Given the description of an element on the screen output the (x, y) to click on. 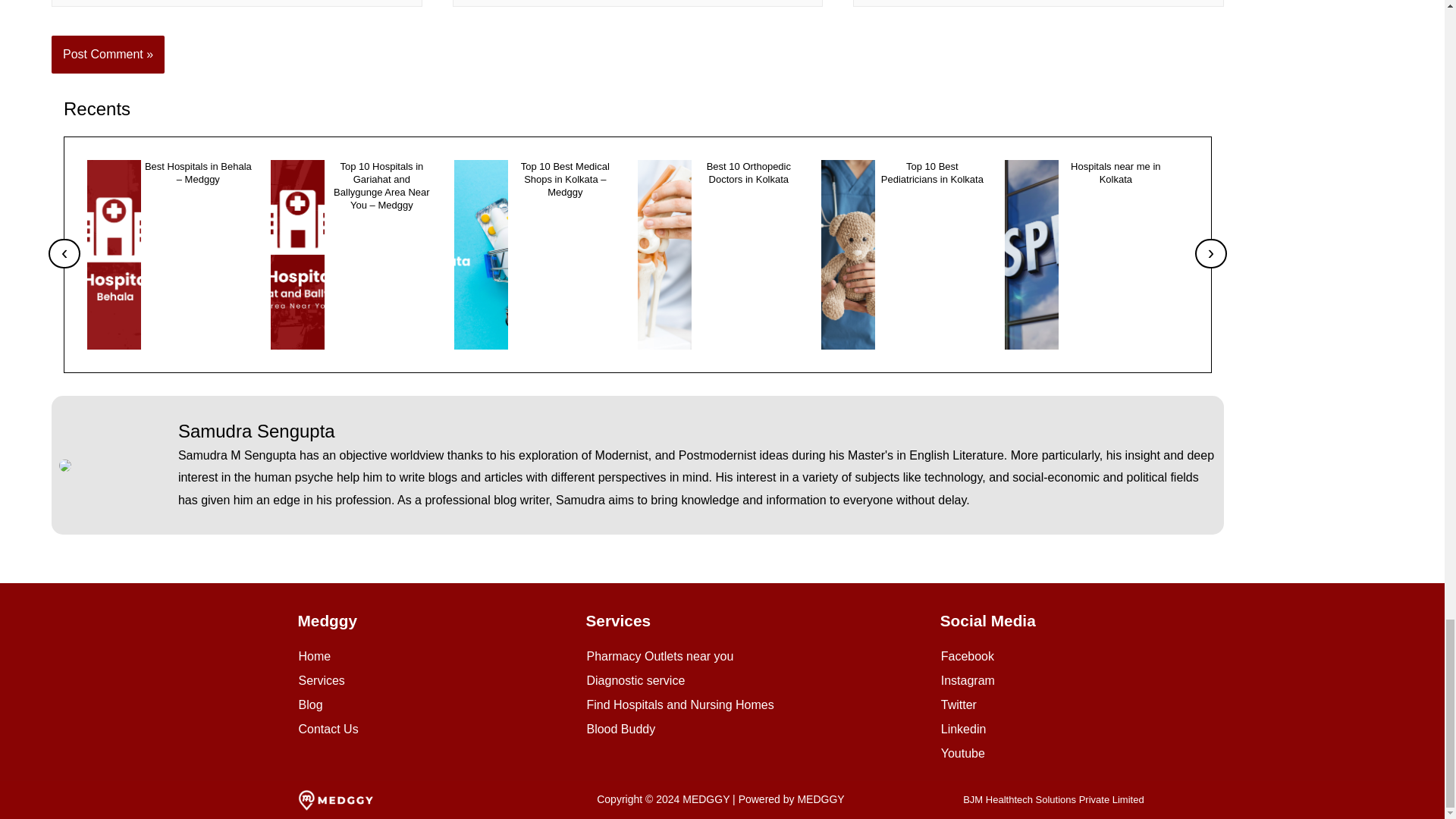
Hospitals near me in Kolkata (1115, 172)
Top 10 Best Pediatricians in Kolkata (932, 172)
Best 10 Orthopedic Doctors in Kolkata (748, 172)
